Given the description of an element on the screen output the (x, y) to click on. 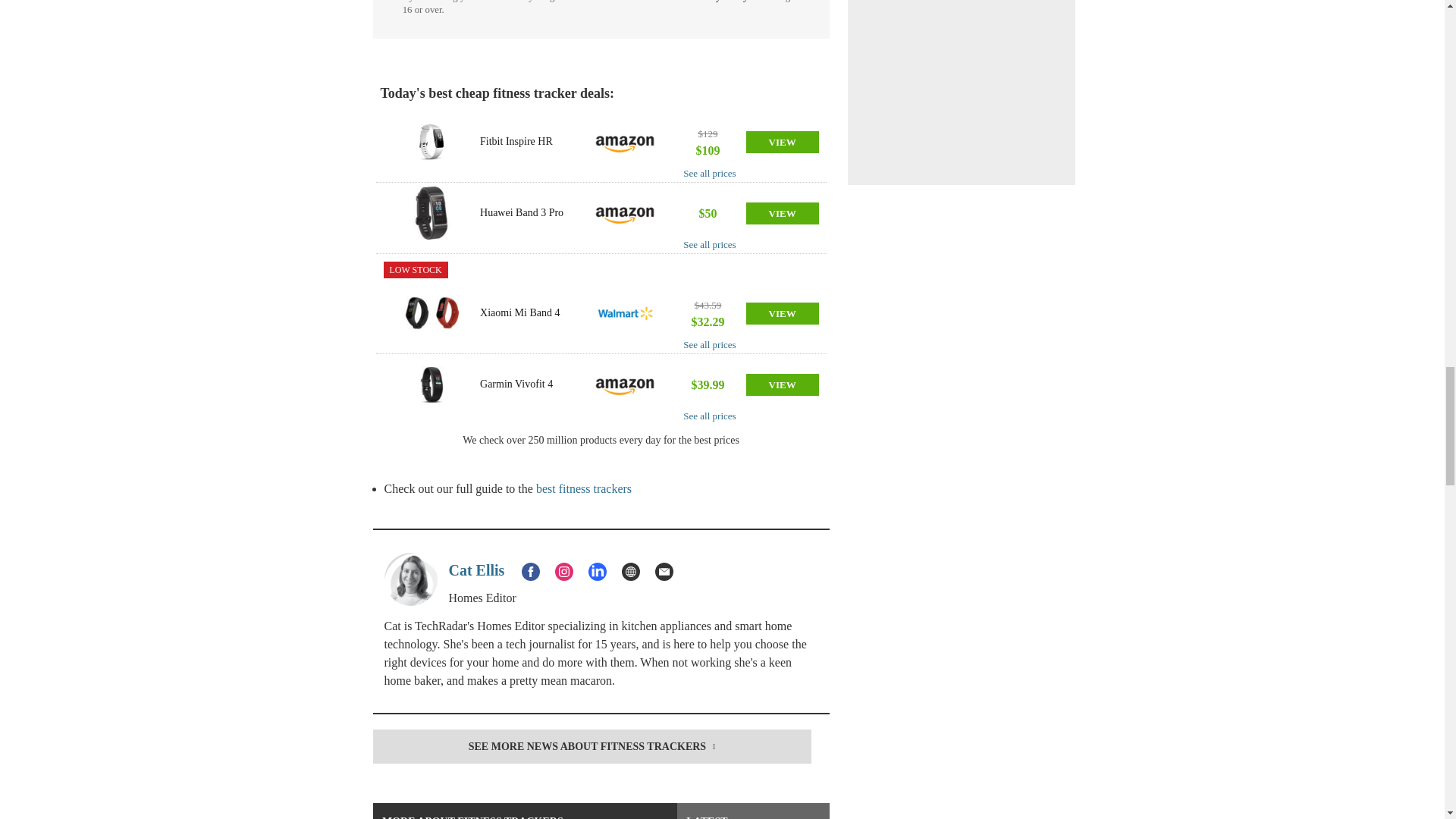
Garmin vivofit 4 Bands, Black... (431, 384)
Walmart (624, 313)
Xiaomi Mi Router 4A Wireless... (431, 312)
Amazon (624, 213)
Amazon (624, 384)
Fitbit Inspire HR Heart Rate... (431, 141)
HUAWEI Band 3 Pro All-in-One... (431, 212)
Low Stock (416, 269)
Amazon (624, 141)
